Given the description of an element on the screen output the (x, y) to click on. 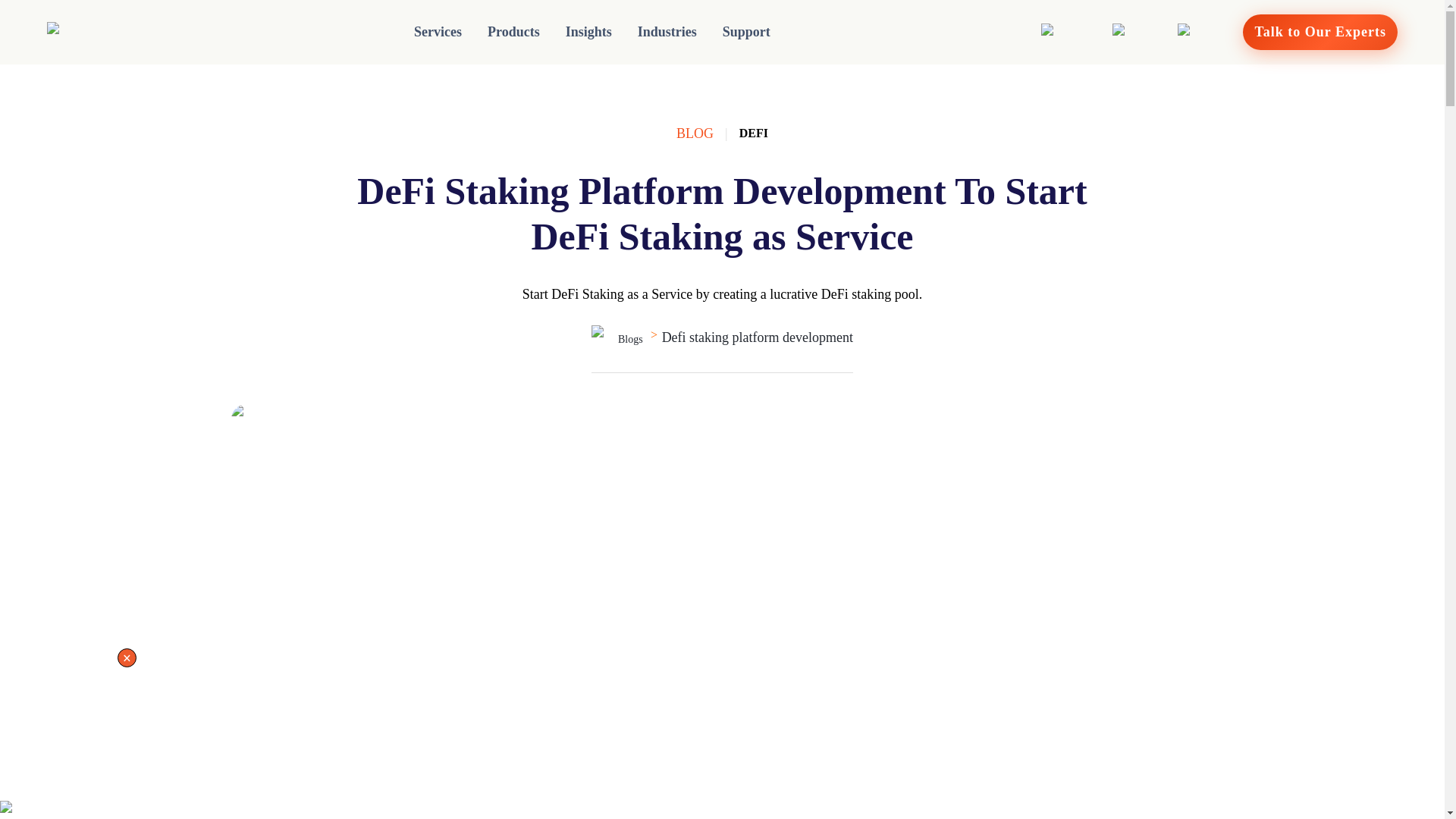
Skype (1198, 32)
BitdealLogo (90, 33)
WhatsApp (1073, 32)
Talk to Our Experts (1320, 31)
Telegram (1141, 32)
Exchange Listing Offer (63, 809)
Support (746, 32)
Blogs (617, 338)
Products (513, 32)
Services (437, 32)
